Given the description of an element on the screen output the (x, y) to click on. 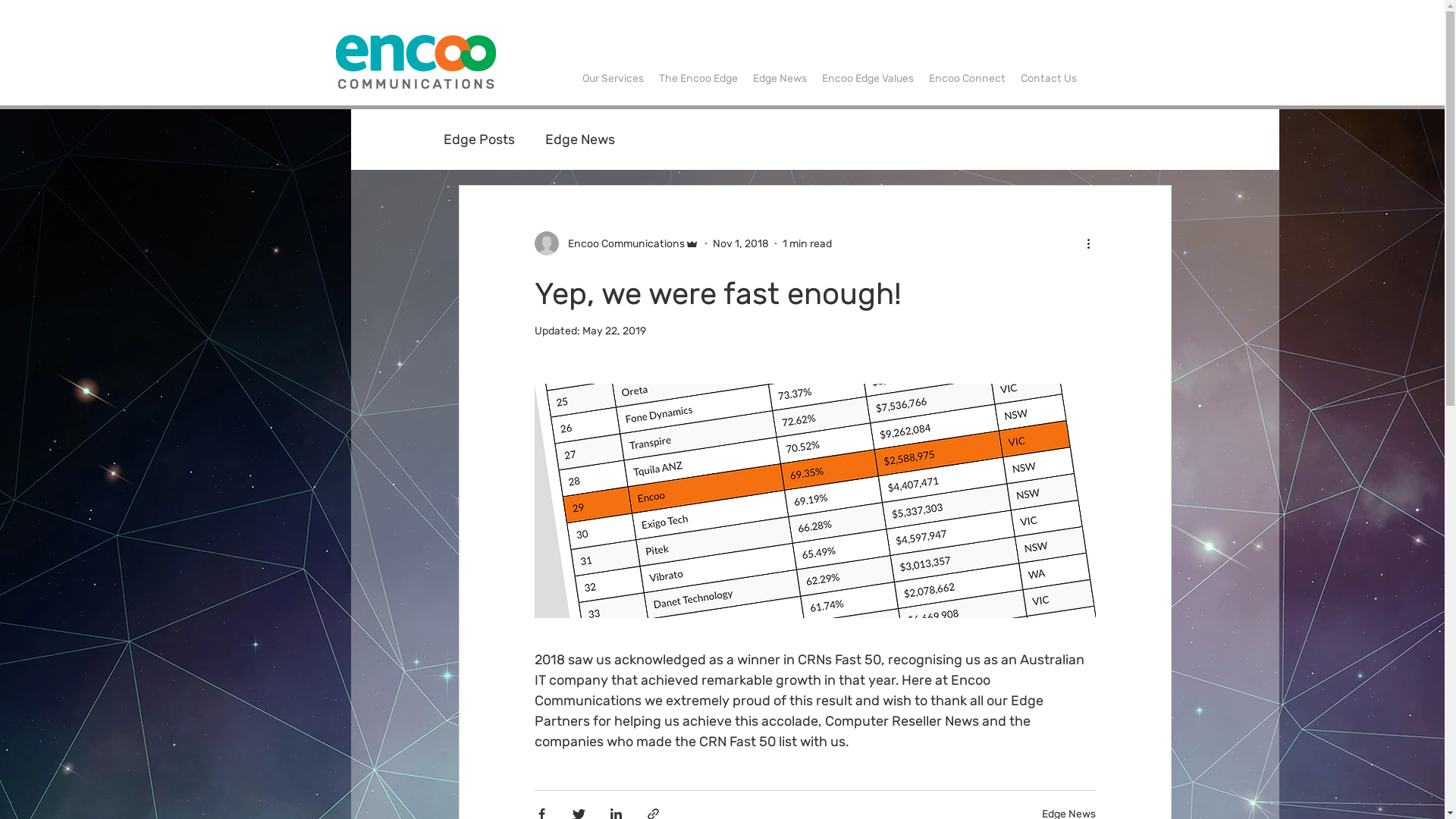
Our Services Element type: text (612, 78)
Encoo Connect Element type: text (966, 78)
Edge News Element type: text (778, 78)
Encoo Edge Values Element type: text (867, 78)
Edge News Element type: text (579, 139)
The Encoo Edge Element type: text (697, 78)
Edge Posts Element type: text (478, 139)
Contact Us Element type: text (1048, 78)
